Given the description of an element on the screen output the (x, y) to click on. 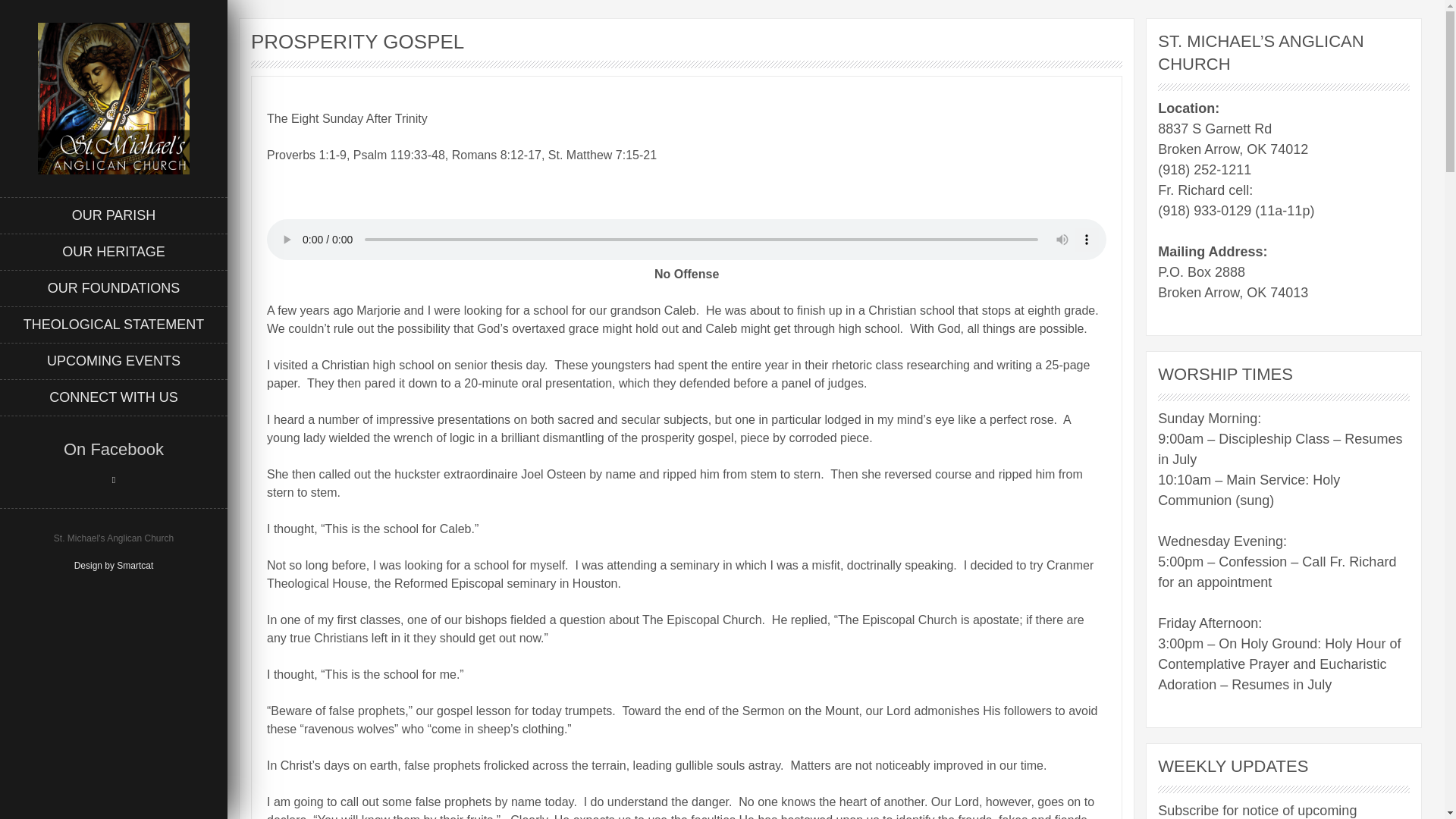
CONNECT WITH US (113, 397)
Design by Smartcat (114, 565)
OUR FOUNDATIONS (113, 288)
OUR HERITAGE (113, 251)
OUR PARISH (113, 215)
UPCOMING EVENTS (113, 361)
THEOLOGICAL STATEMENT (113, 324)
